Given the description of an element on the screen output the (x, y) to click on. 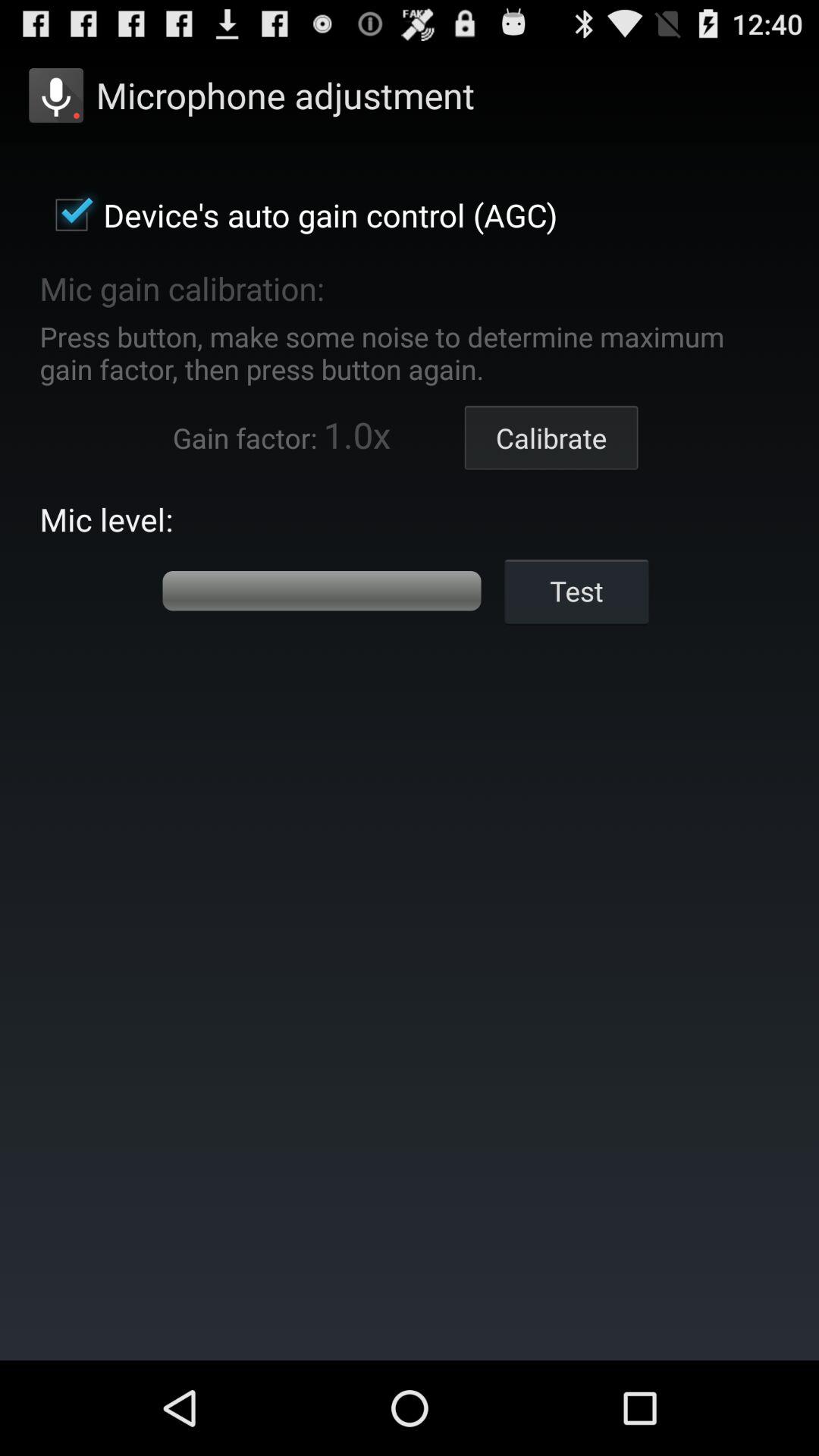
choose calibrate item (551, 437)
